Given the description of an element on the screen output the (x, y) to click on. 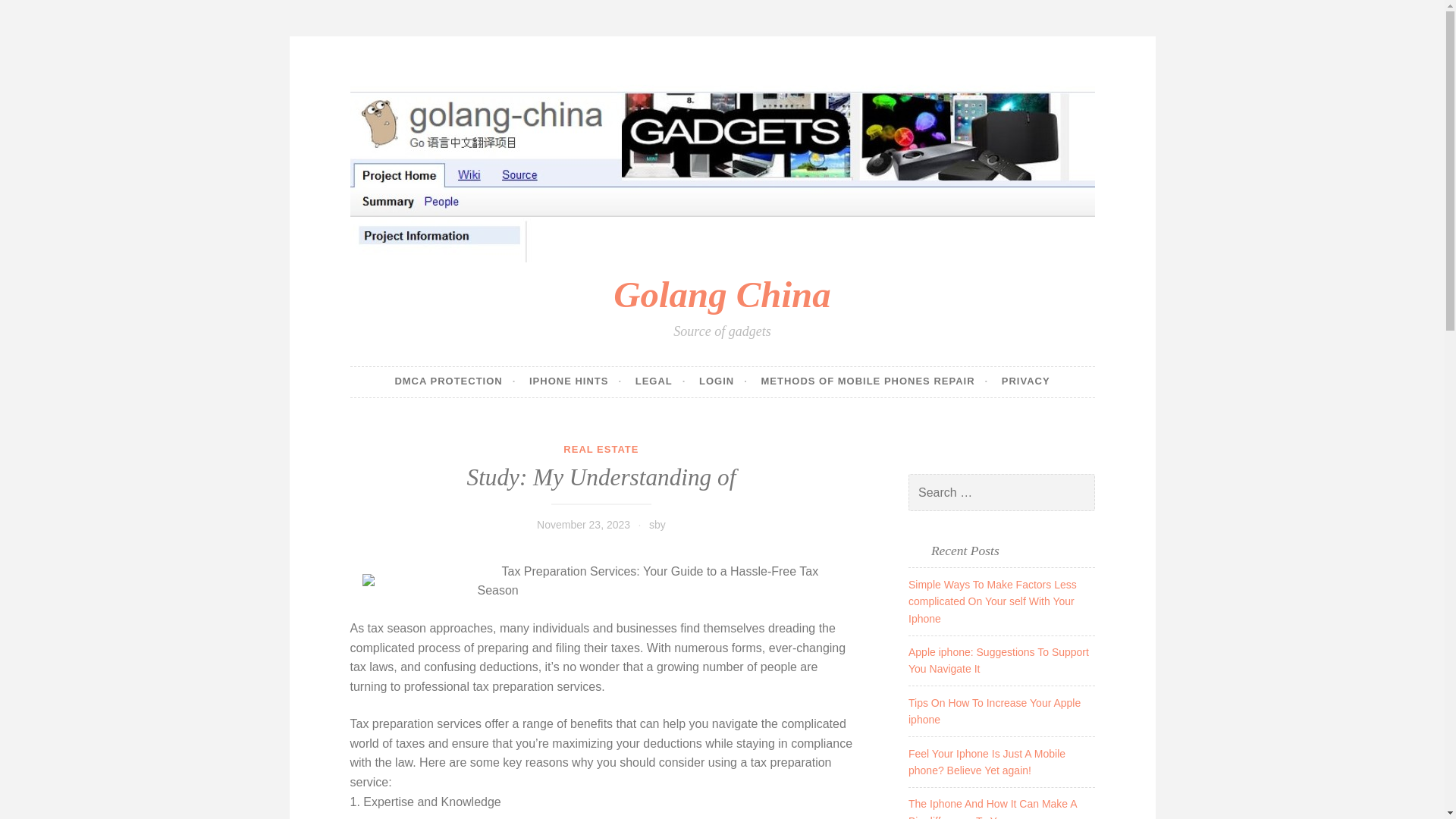
November 23, 2023 (583, 524)
LOGIN (723, 381)
METHODS OF MOBILE PHONES REPAIR (874, 381)
Apple iphone: Suggestions To Support You Navigate It (998, 660)
IPHONE HINTS (575, 381)
Feel Your Iphone Is Just A Mobile phone? Believe Yet again! (986, 761)
Tips On How To Increase Your Apple iphone (994, 710)
Search (33, 13)
Golang China (720, 294)
PRIVACY (1025, 381)
REAL ESTATE (601, 449)
The Iphone And How It Can Make A Big difference To You (992, 808)
LEGAL (659, 381)
